Given the description of an element on the screen output the (x, y) to click on. 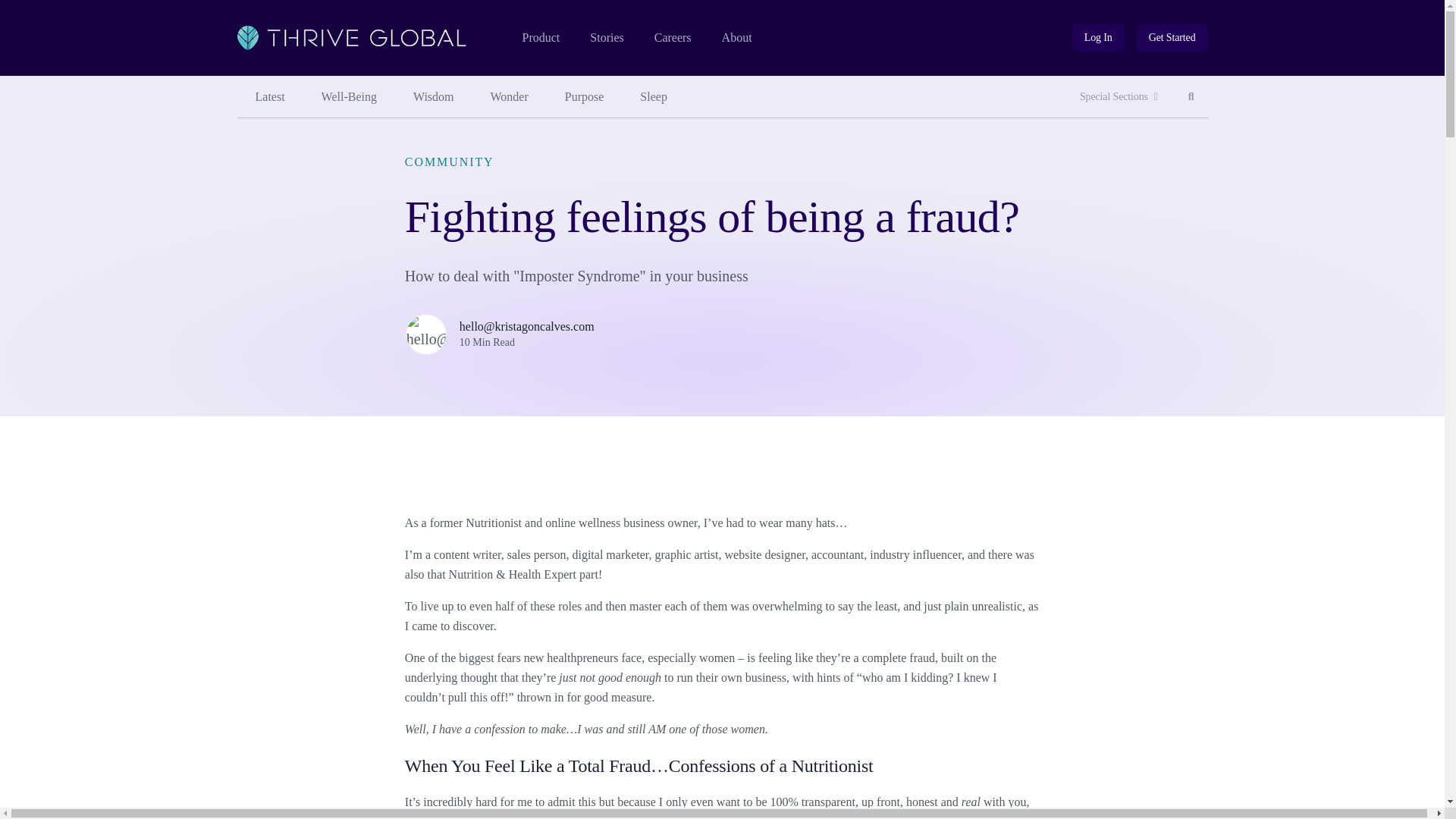
Purpose (585, 96)
About (737, 37)
Wisdom (432, 96)
Product (540, 37)
btn-info (1191, 97)
Sleep (1097, 37)
Log In (653, 96)
Special Sections (1097, 37)
Wonder (1118, 97)
btn-primary (509, 96)
Stories (1172, 37)
Get Started (606, 37)
Well-Being (1172, 37)
Latest (348, 96)
